Given the description of an element on the screen output the (x, y) to click on. 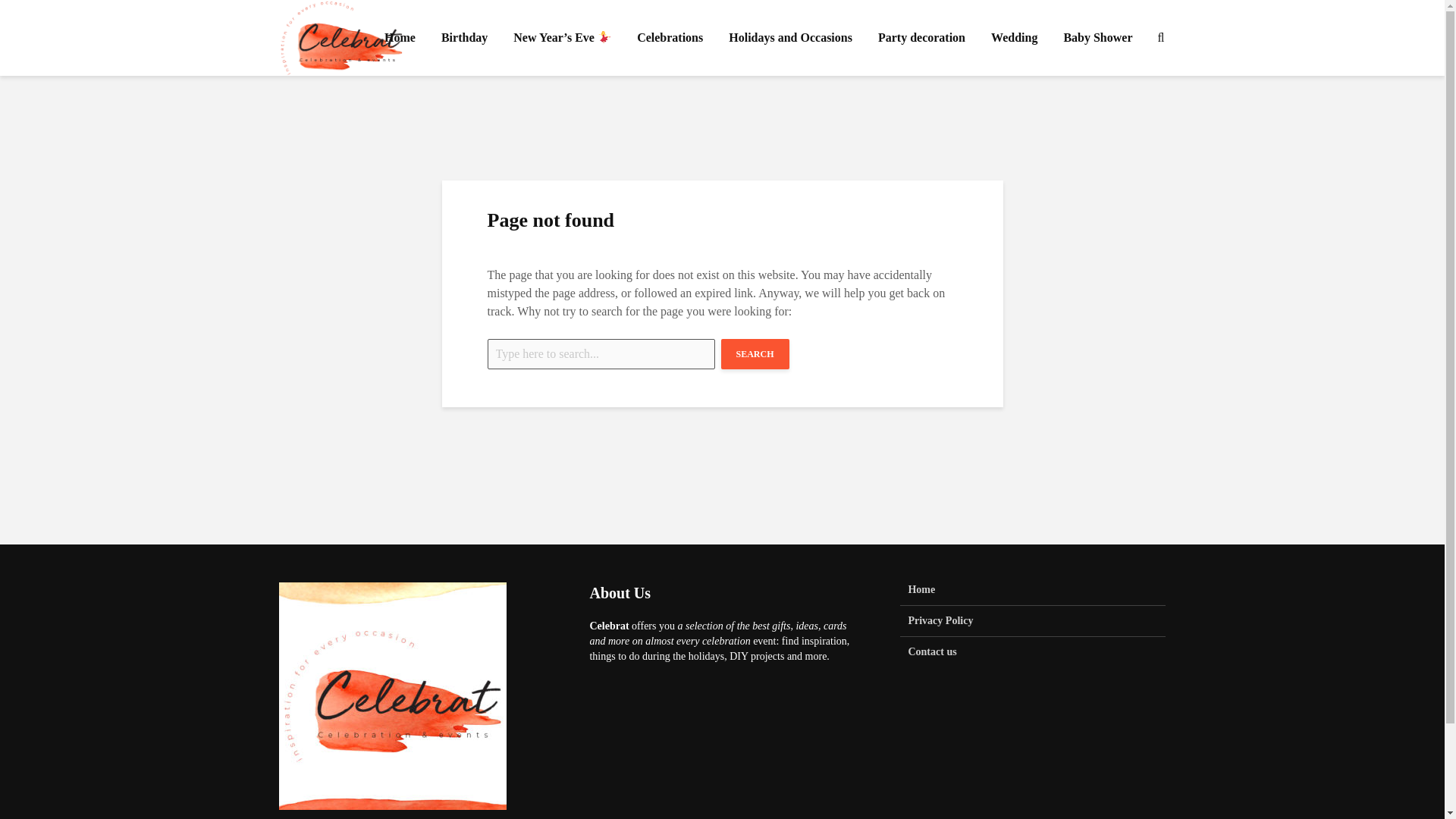
Baby Shower (1096, 37)
Privacy Policy (1032, 621)
Holidays and Occasions (790, 37)
Home (1032, 594)
Home (399, 37)
Wedding (1013, 37)
Birthday (464, 37)
Celebrations (670, 37)
SEARCH (754, 354)
Party decoration (921, 37)
Contact us (1032, 652)
